Given the description of an element on the screen output the (x, y) to click on. 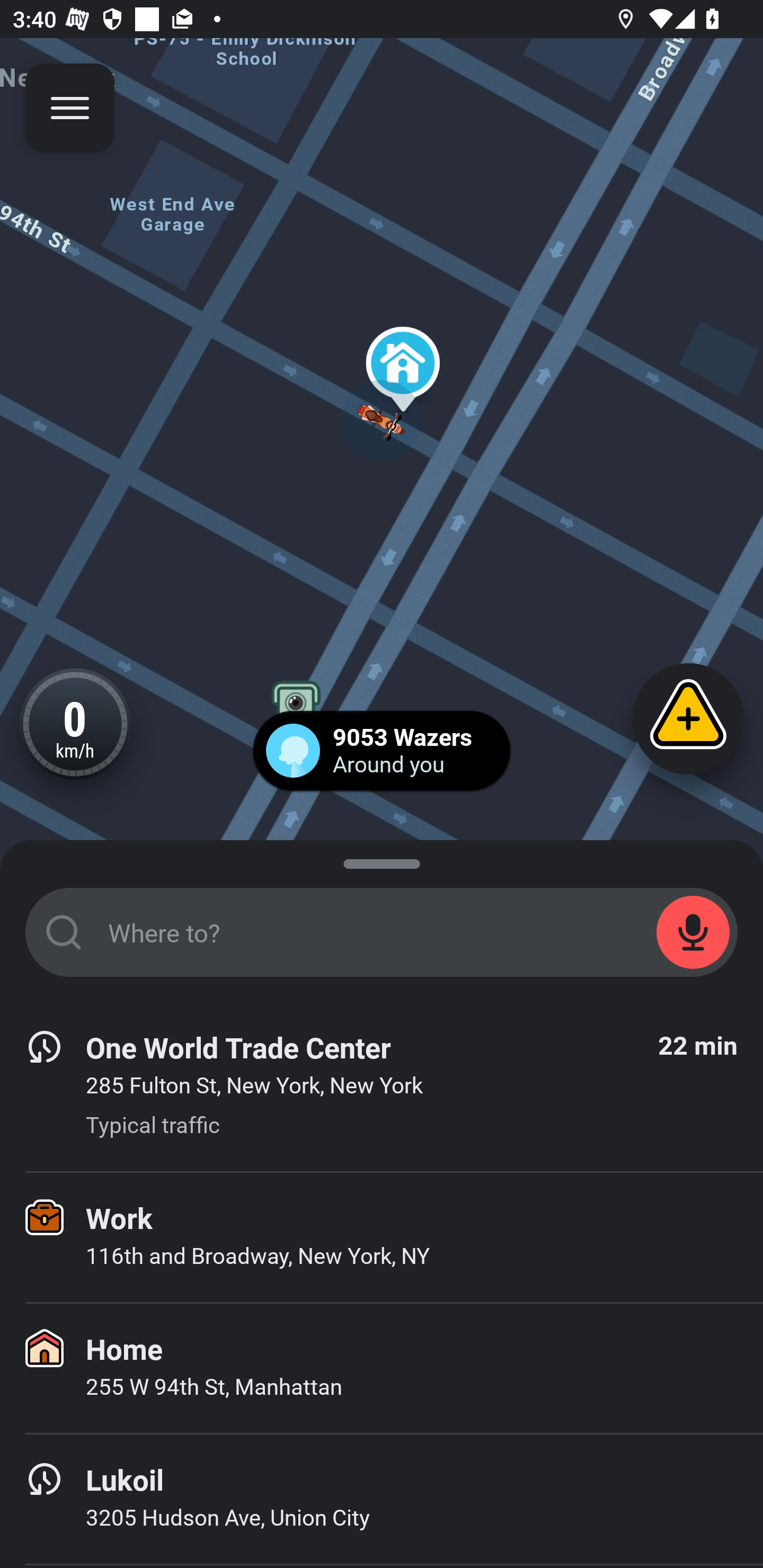
SUGGESTIONS_SHEET_DRAG_HANDLE (381, 860)
START_STATE_SEARCH_FIELD Where to? (381, 931)
Work 116th and Broadway, New York, NY (381, 1236)
Home 255 W 94th St, Manhattan (381, 1368)
Lukoil 3205 Hudson Ave, Union City (381, 1498)
